Given the description of an element on the screen output the (x, y) to click on. 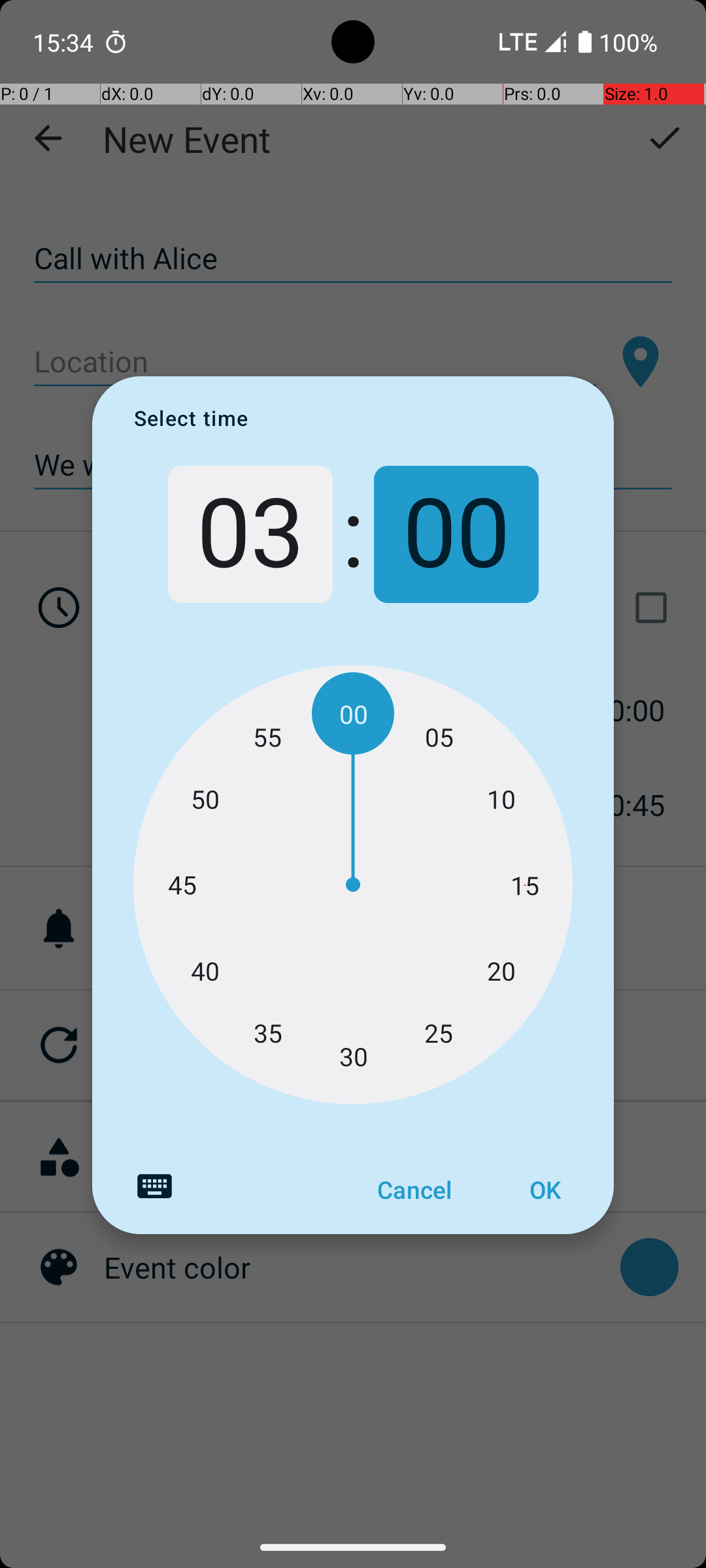
03 Element type: android.view.View (250, 534)
